Given the description of an element on the screen output the (x, y) to click on. 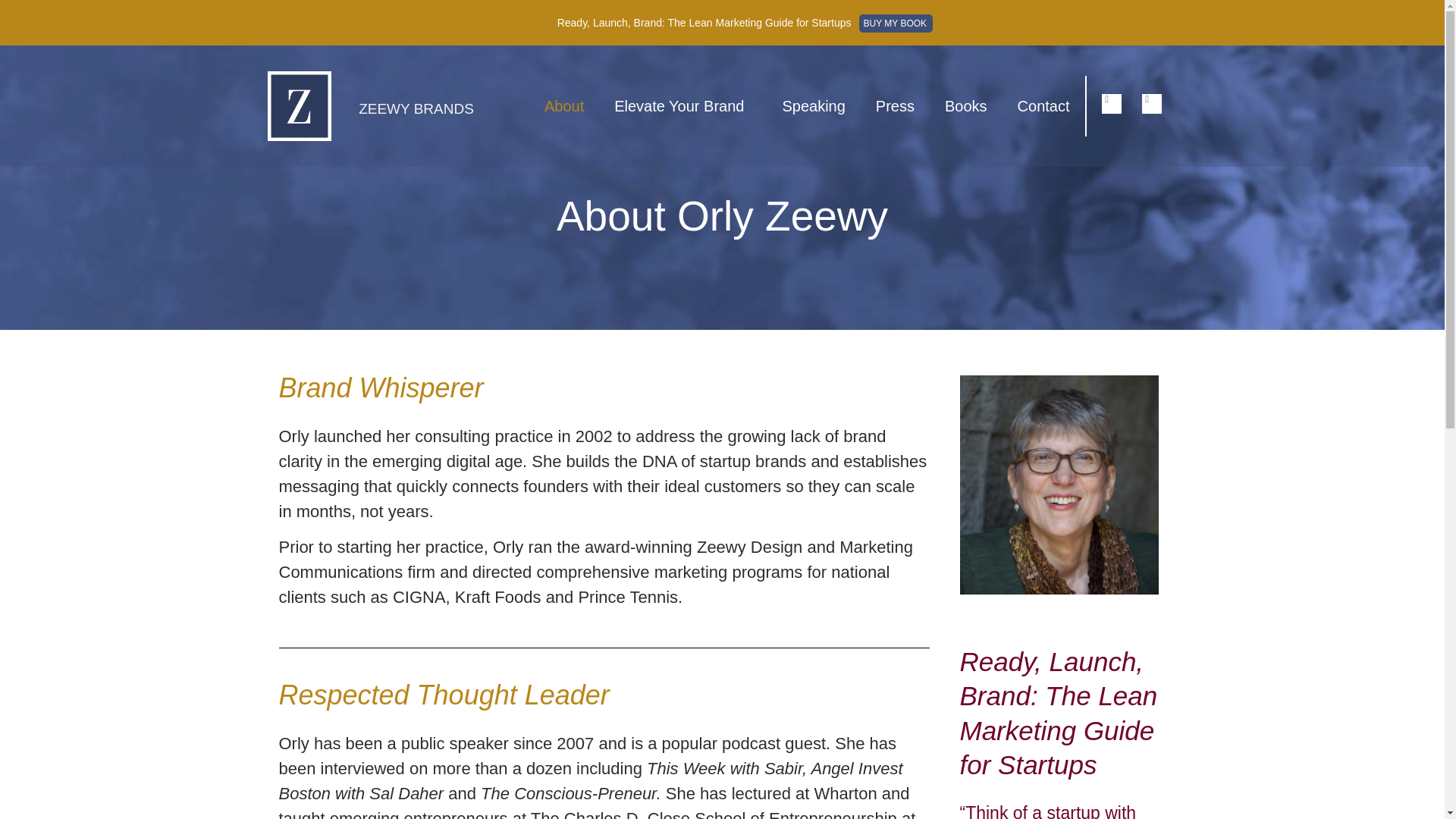
ZEEWY BRANDS (416, 108)
About (563, 105)
Books (966, 105)
Elevate Your Brand (682, 105)
Speaking (813, 105)
BUY MY BOOK (896, 22)
Contact (1043, 105)
Press (895, 105)
